Given the description of an element on the screen output the (x, y) to click on. 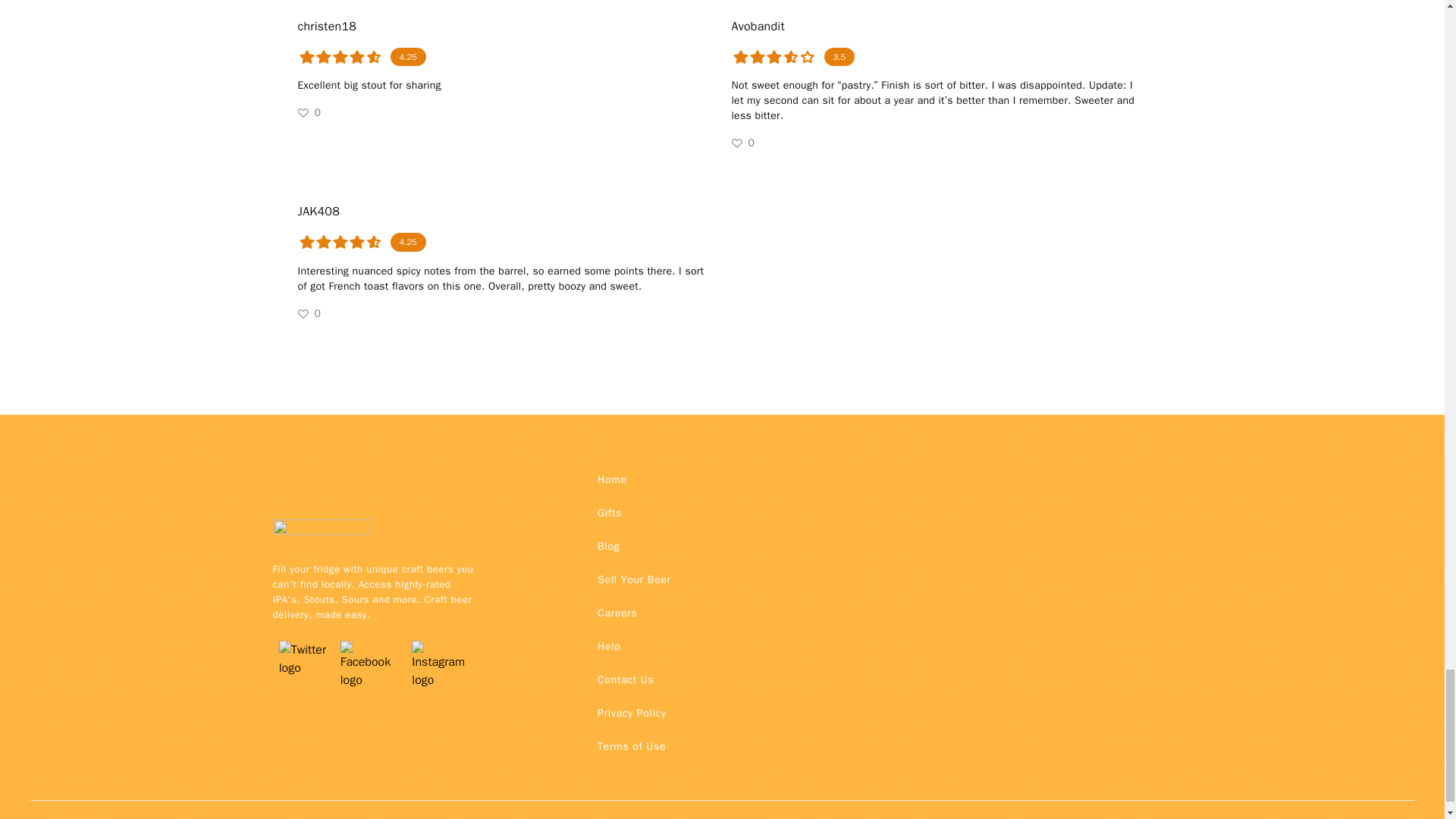
Home (612, 479)
FAQ (631, 745)
Tavour (322, 533)
Instagram (442, 639)
FAQ (631, 712)
FAQ (625, 679)
Help (608, 645)
Careers (617, 612)
blog (608, 545)
home (612, 479)
Facebook (370, 639)
gifts (609, 512)
Contact Us (625, 679)
Privacy Policy (631, 712)
Blog (608, 545)
